Given the description of an element on the screen output the (x, y) to click on. 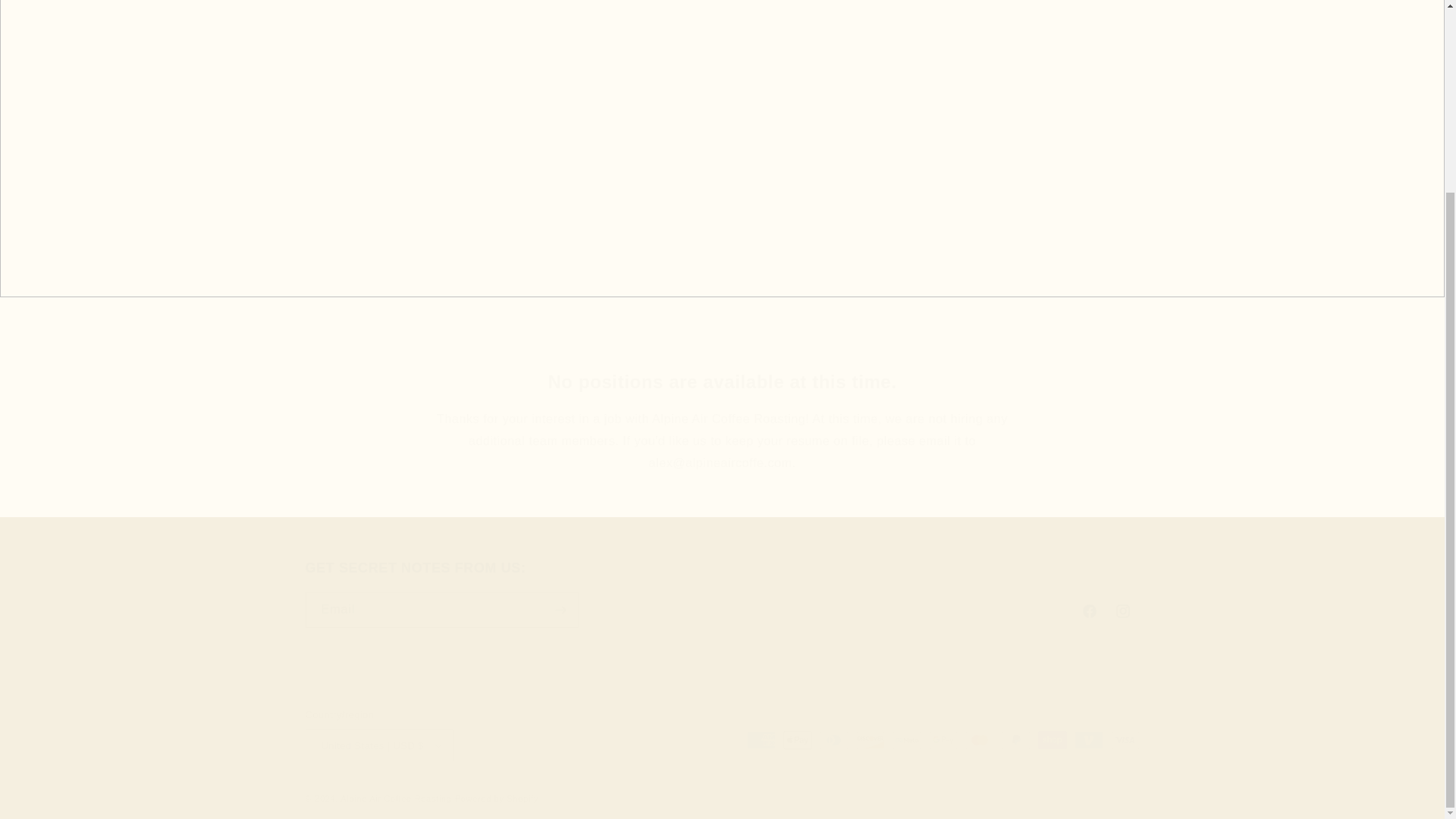
Alpine Air Coffee Roasting (395, 798)
Instagram (1121, 611)
Powered by Shopify (496, 798)
No positions are available at this time. (721, 593)
Facebook (721, 381)
